Given the description of an element on the screen output the (x, y) to click on. 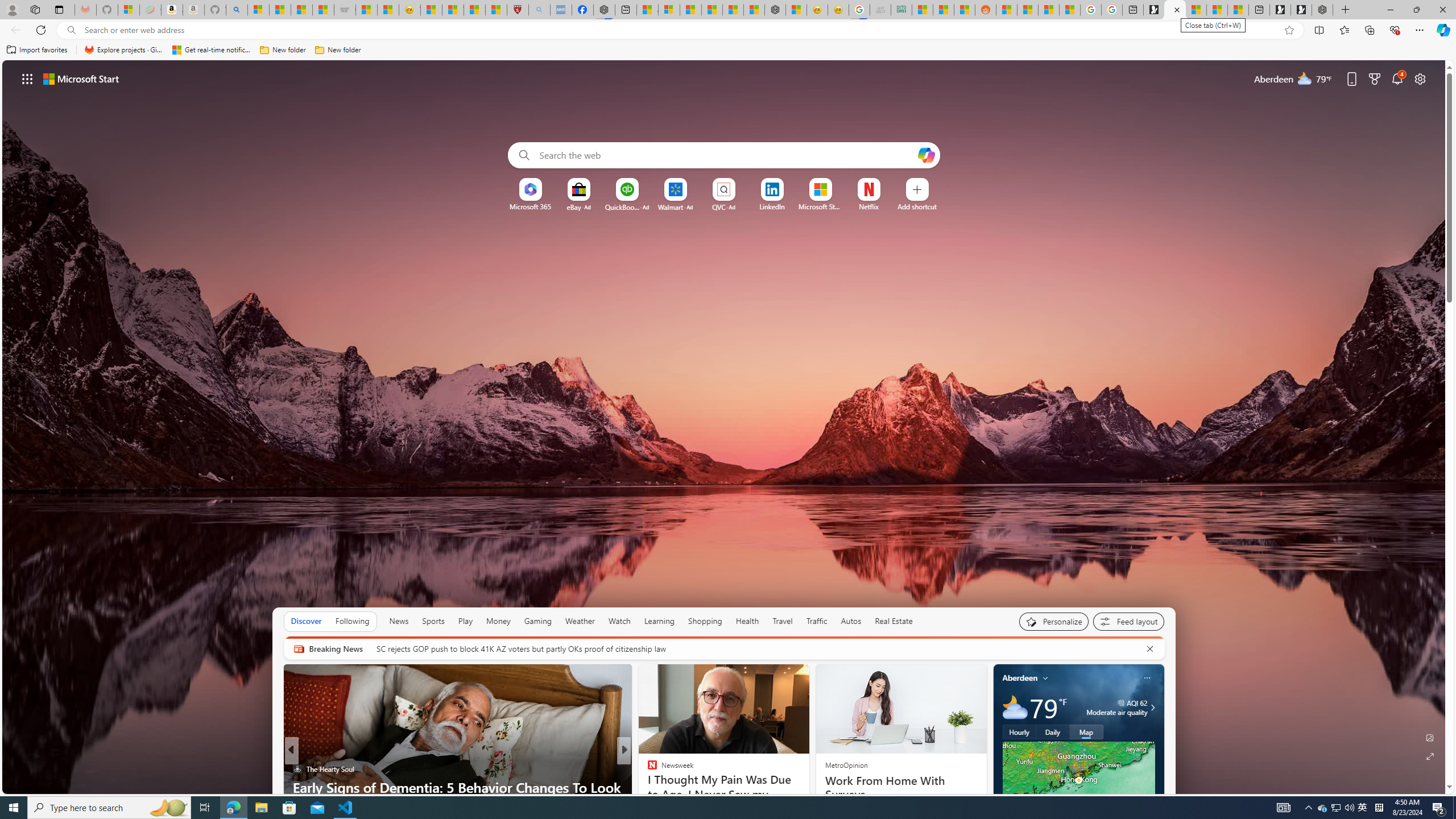
ETNT Mind+Body (647, 768)
Import favorites (36, 49)
Feed settings (1128, 621)
HuffPost (647, 768)
My location (1045, 677)
